Given the description of an element on the screen output the (x, y) to click on. 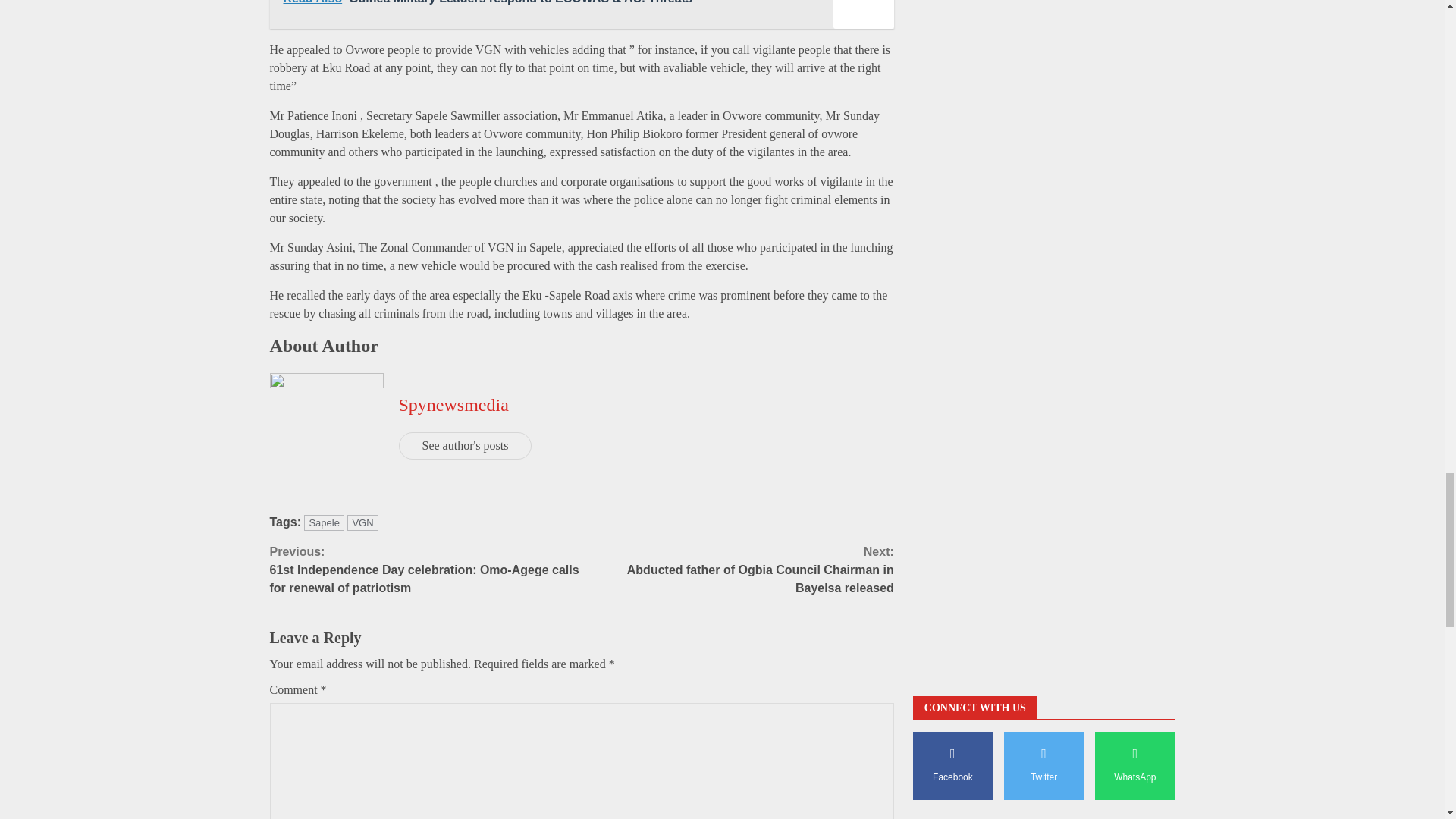
Spynewsmedia (453, 404)
See author's posts (465, 445)
VGN (362, 522)
Sapele (323, 522)
